Given the description of an element on the screen output the (x, y) to click on. 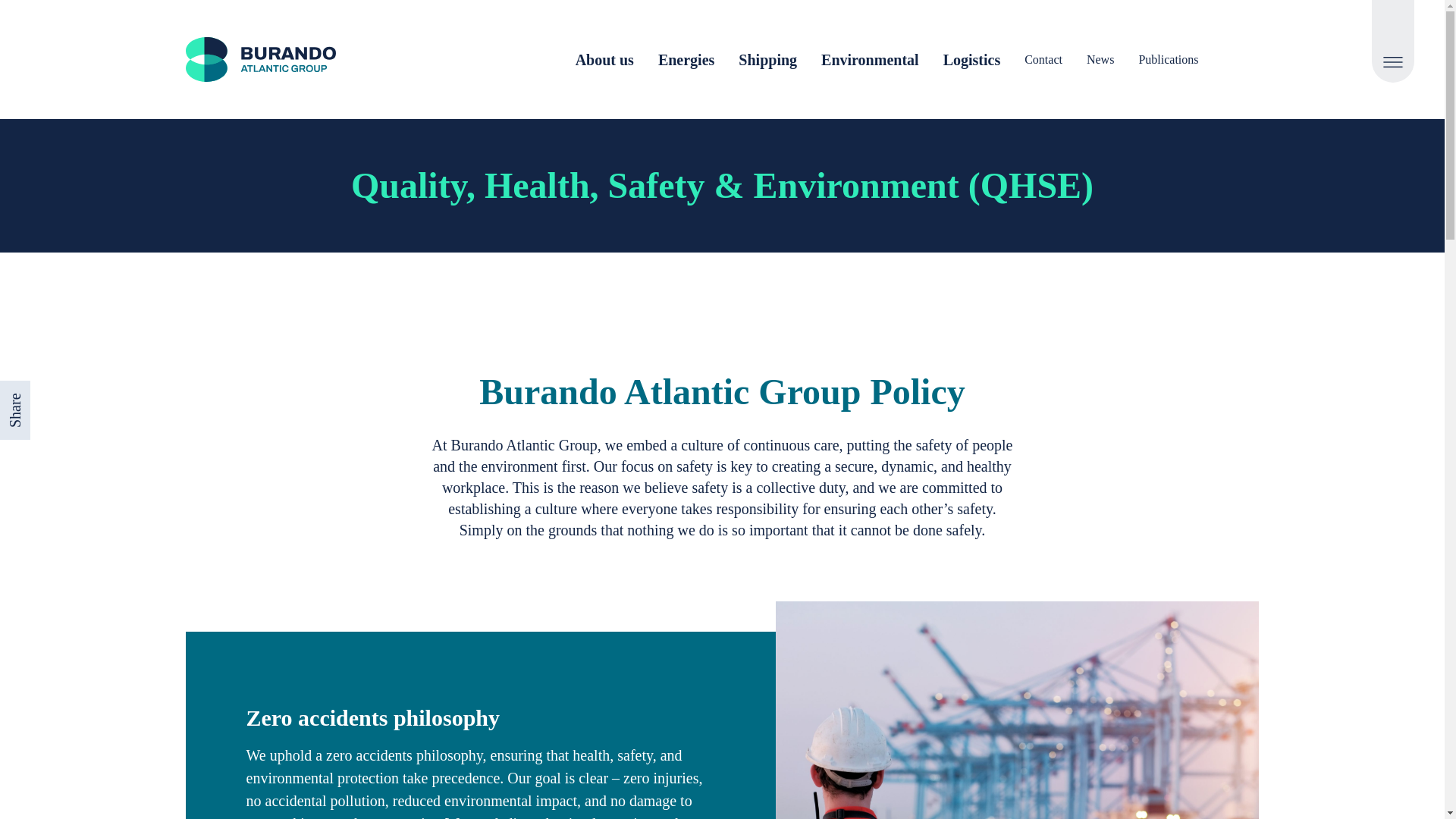
About us (604, 59)
Publications (1168, 58)
Energies (686, 59)
Environmental (869, 59)
Contact (1043, 58)
Logistics (972, 59)
Shipping (767, 59)
News (1099, 58)
